Given the description of an element on the screen output the (x, y) to click on. 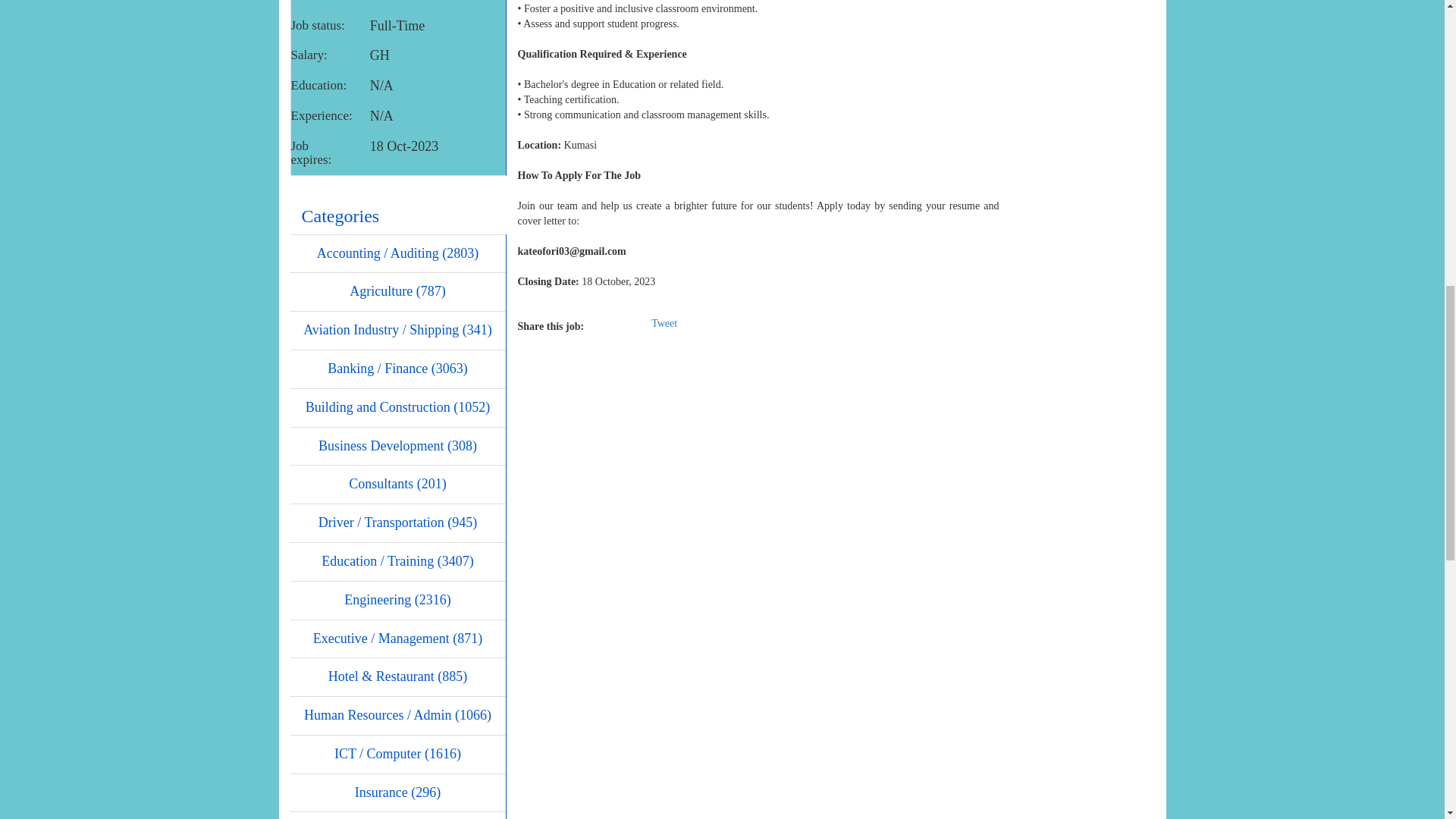
Advertisement (1082, 111)
